Given the description of an element on the screen output the (x, y) to click on. 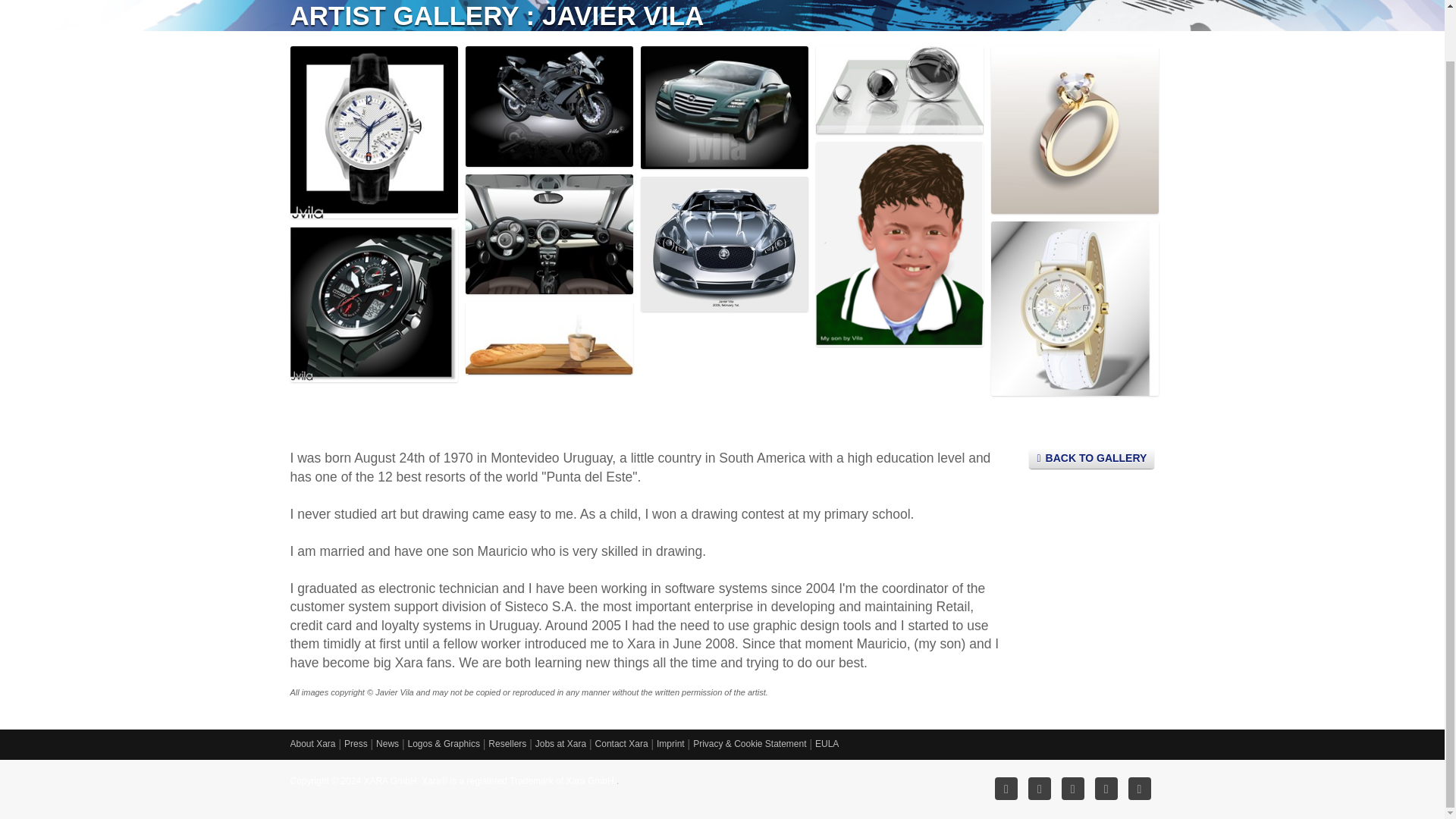
RSS (1039, 788)
Sitemap (1005, 788)
Twitter (1106, 788)
Facebook (1072, 788)
YouTube (1139, 788)
